Given the description of an element on the screen output the (x, y) to click on. 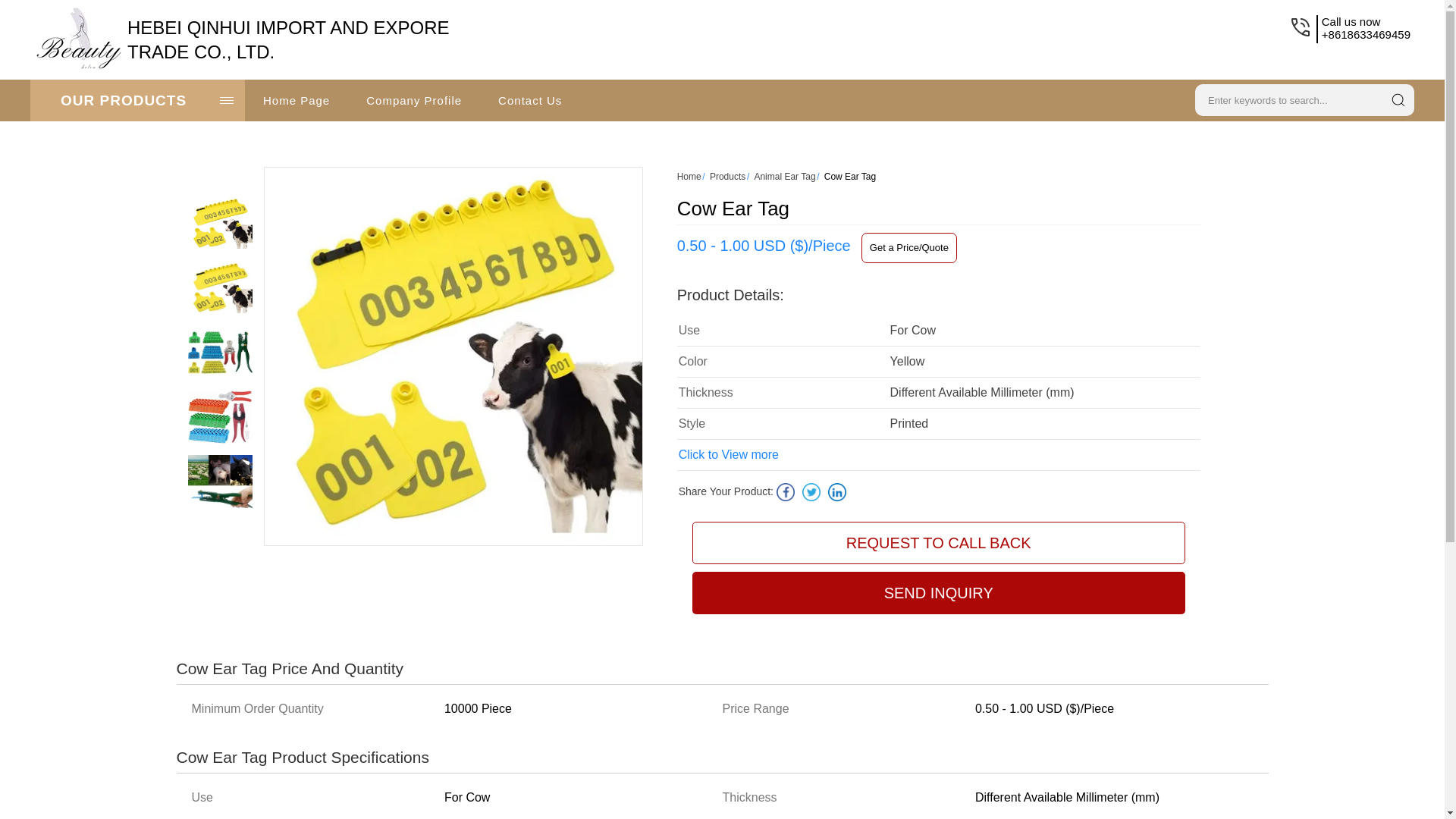
submit (1398, 99)
HEBEI QINHUI IMPORT AND EXPORE TRADE CO., LTD. (288, 38)
Enter keywords to search... (1286, 97)
OUR PRODUCTS (137, 100)
submit (1398, 99)
